Given the description of an element on the screen output the (x, y) to click on. 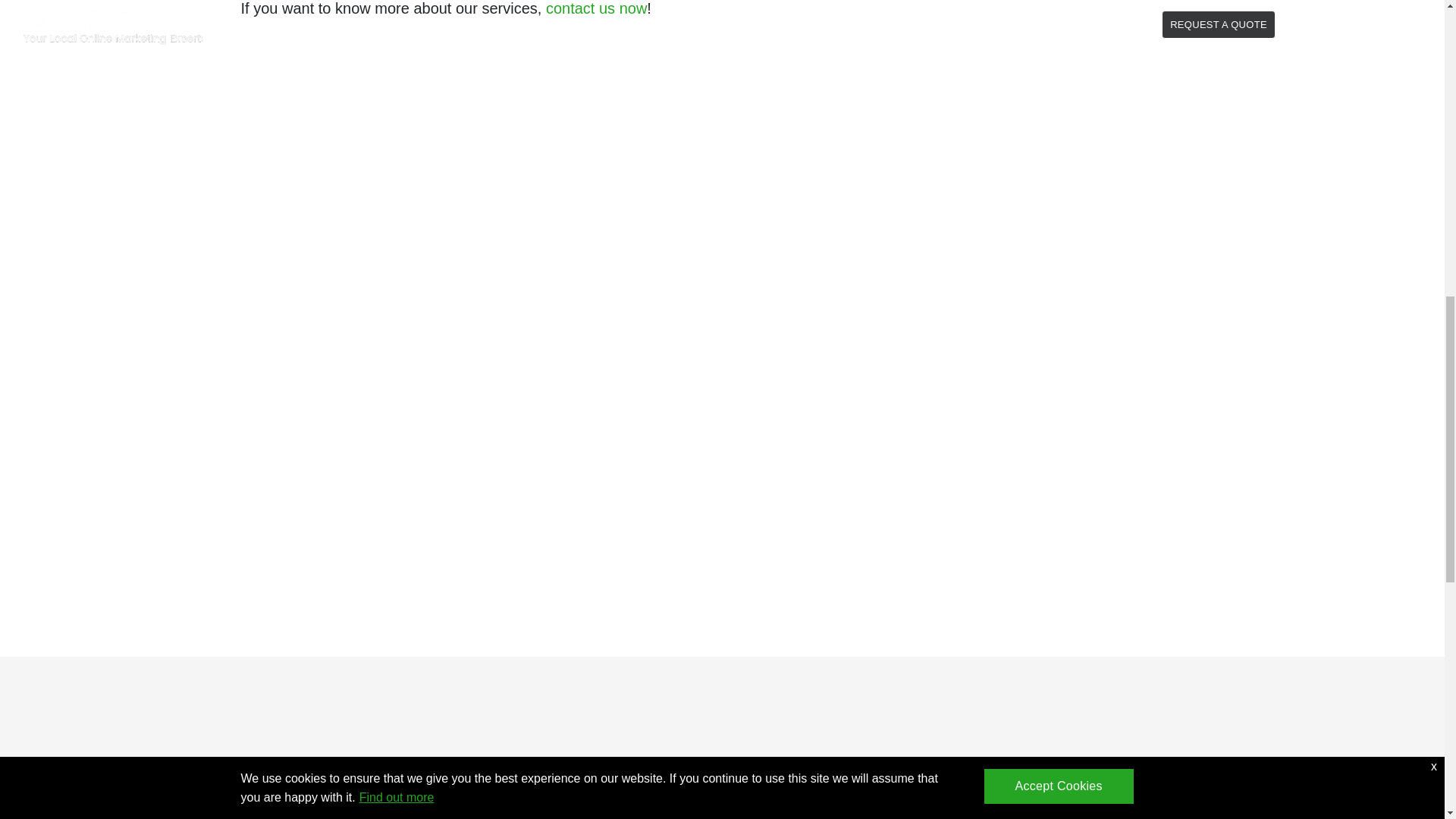
contact us now (596, 8)
